Given the description of an element on the screen output the (x, y) to click on. 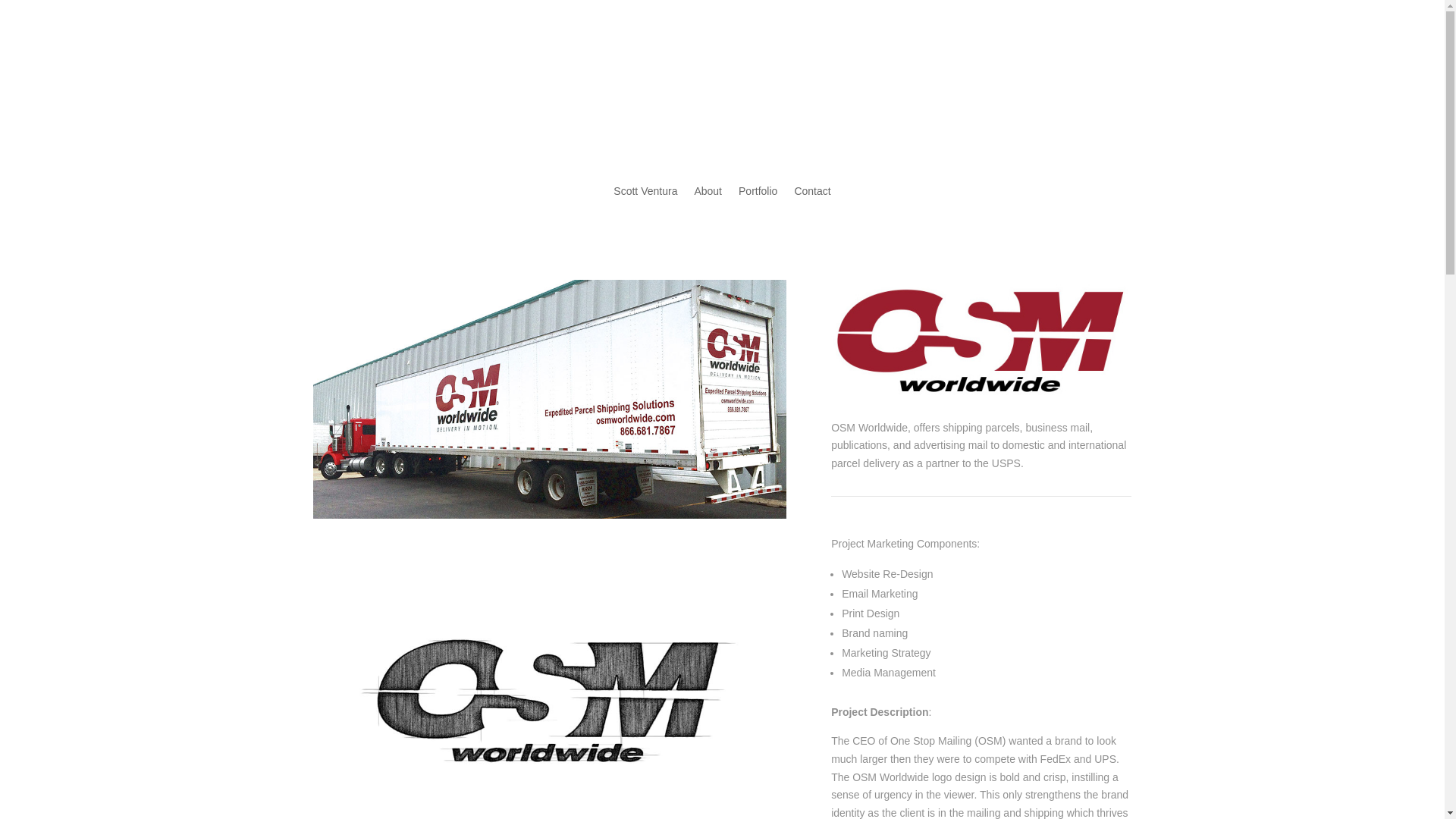
Portfolio (757, 201)
Contact (811, 201)
Scott Ventura (644, 201)
OSM-Worldwide-logo-Design (549, 679)
OSM-Worldwide (981, 338)
941.444.9713 (938, 80)
